Given the description of an element on the screen output the (x, y) to click on. 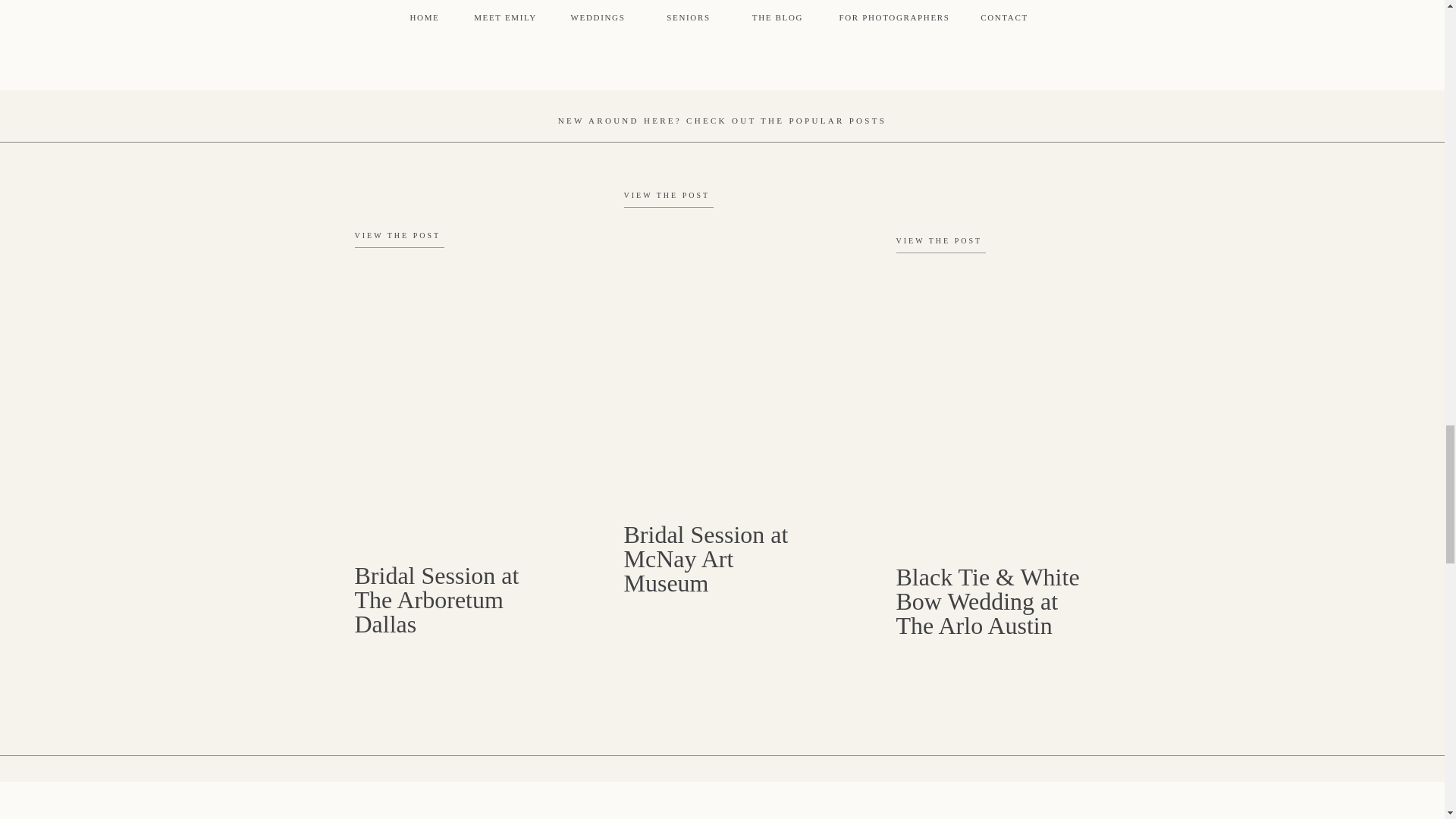
MY PERSONAL GOALS AND STEPS FOR A HEALTHIER HAPPIER 2019 (510, 16)
Bridal Session at The Arboretum Dallas (435, 243)
Bridal Session at McNay Art Museum (703, 203)
